Given the description of an element on the screen output the (x, y) to click on. 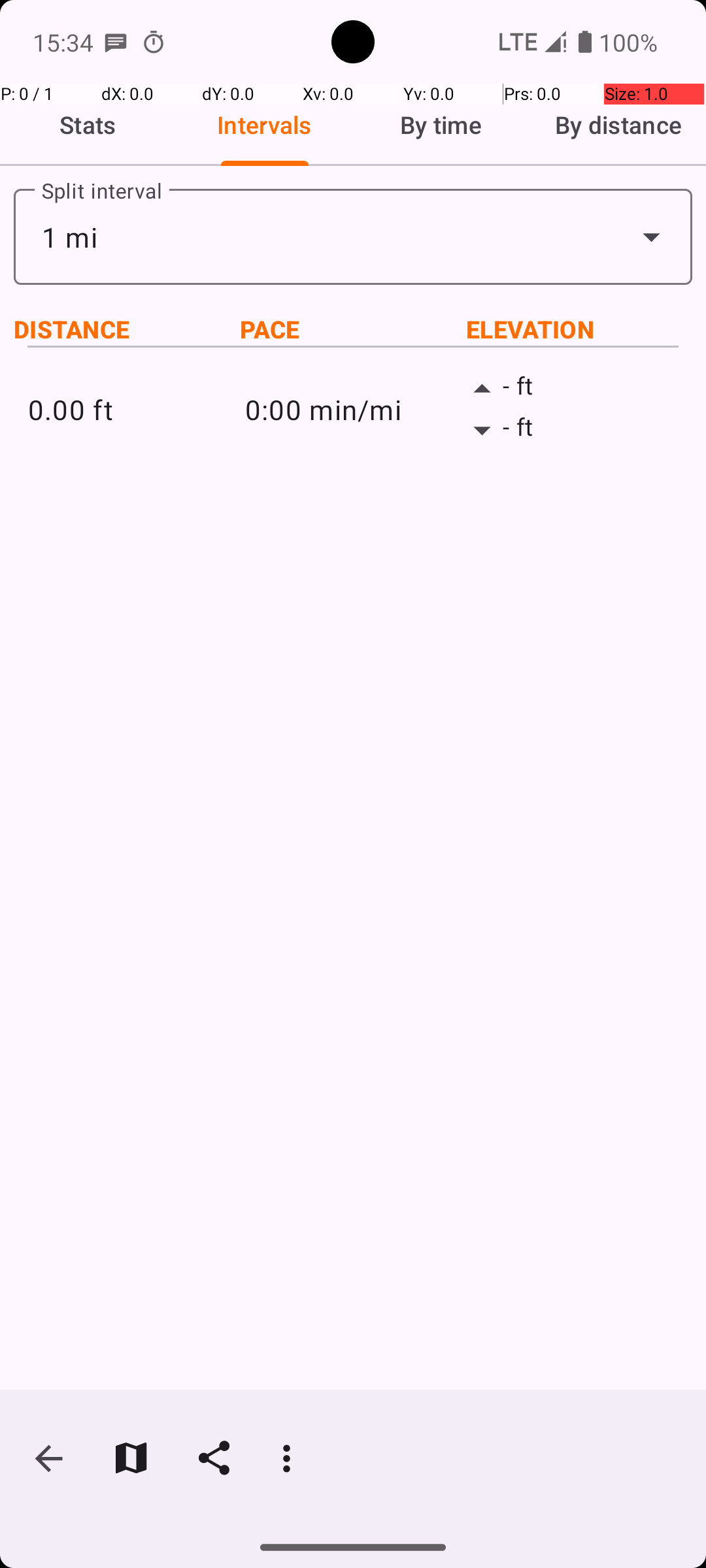
PACE Element type: android.widget.TextView (352, 328)
0:00 min/mi Element type: android.widget.TextView (352, 408)
